Given the description of an element on the screen output the (x, y) to click on. 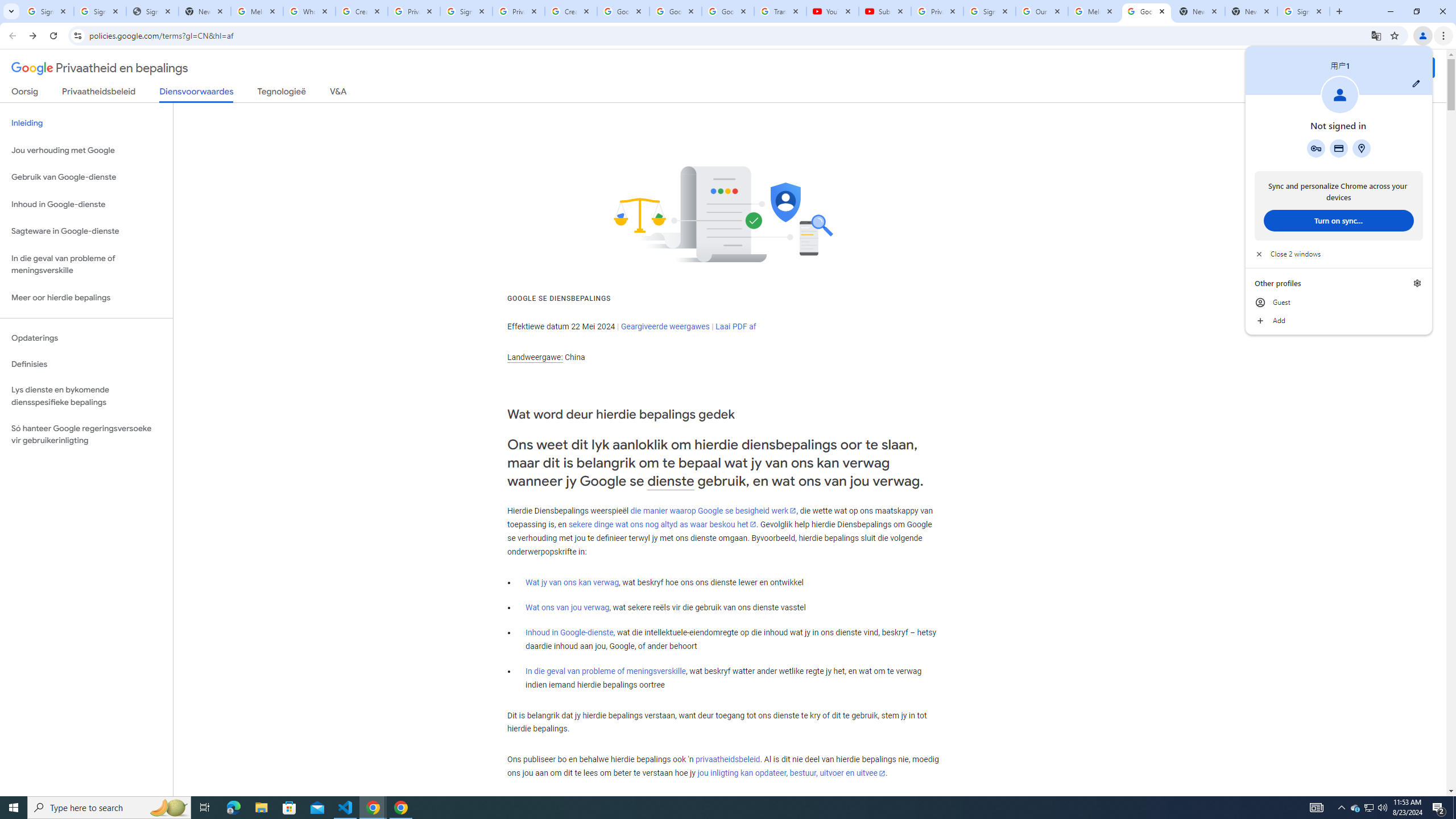
V&A (337, 93)
Gebruik van Google-dienste (86, 176)
Running applications (717, 807)
Start (13, 807)
